Given the description of an element on the screen output the (x, y) to click on. 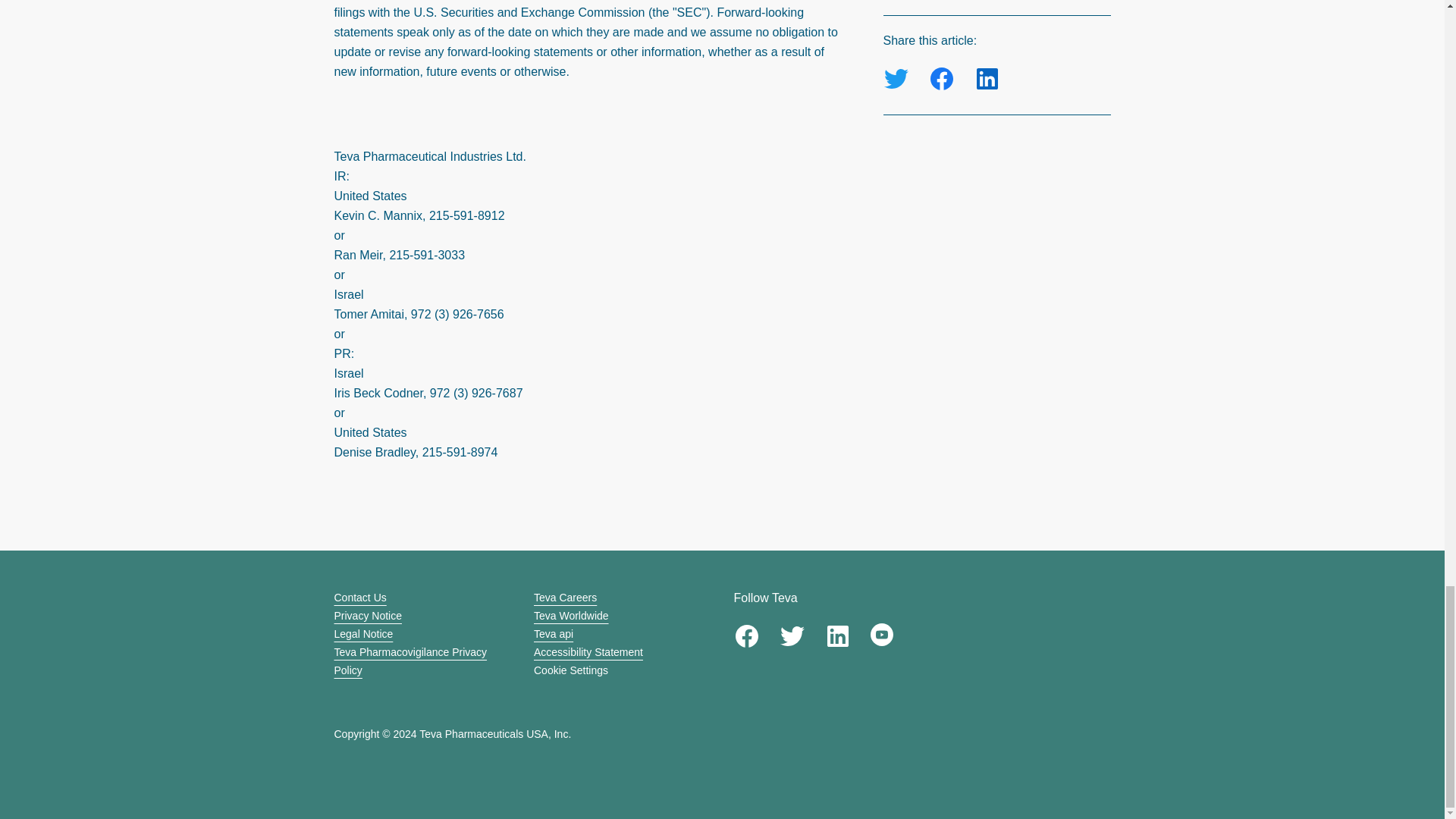
Follow us (746, 636)
Follow us (791, 636)
Follow us (837, 636)
Follow us (881, 634)
